Given the description of an element on the screen output the (x, y) to click on. 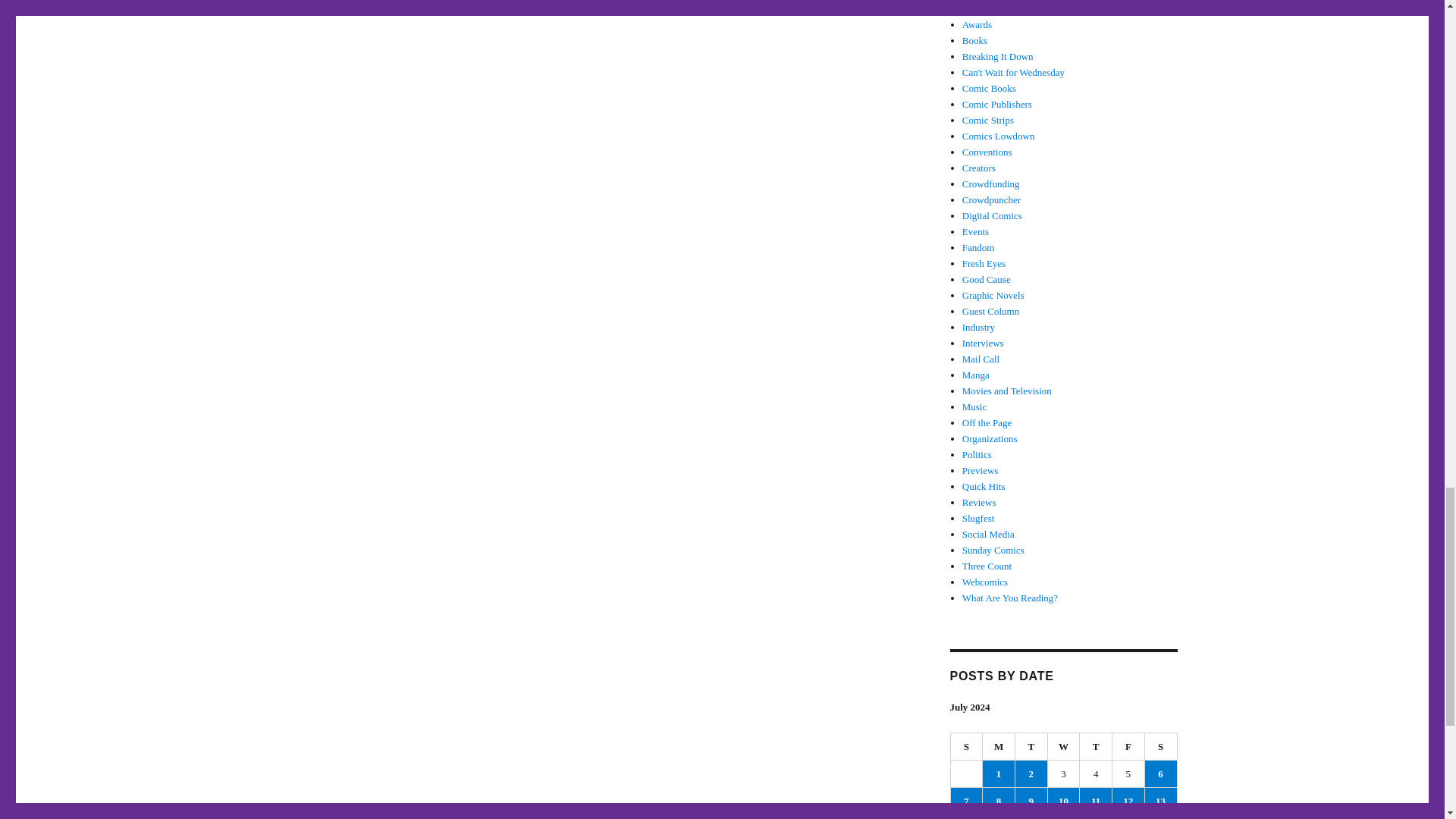
Tuesday (1031, 746)
Thursday (1096, 746)
Saturday (1160, 746)
Sunday (967, 746)
Friday (1128, 746)
Wednesday (1064, 746)
Monday (998, 746)
